Given the description of an element on the screen output the (x, y) to click on. 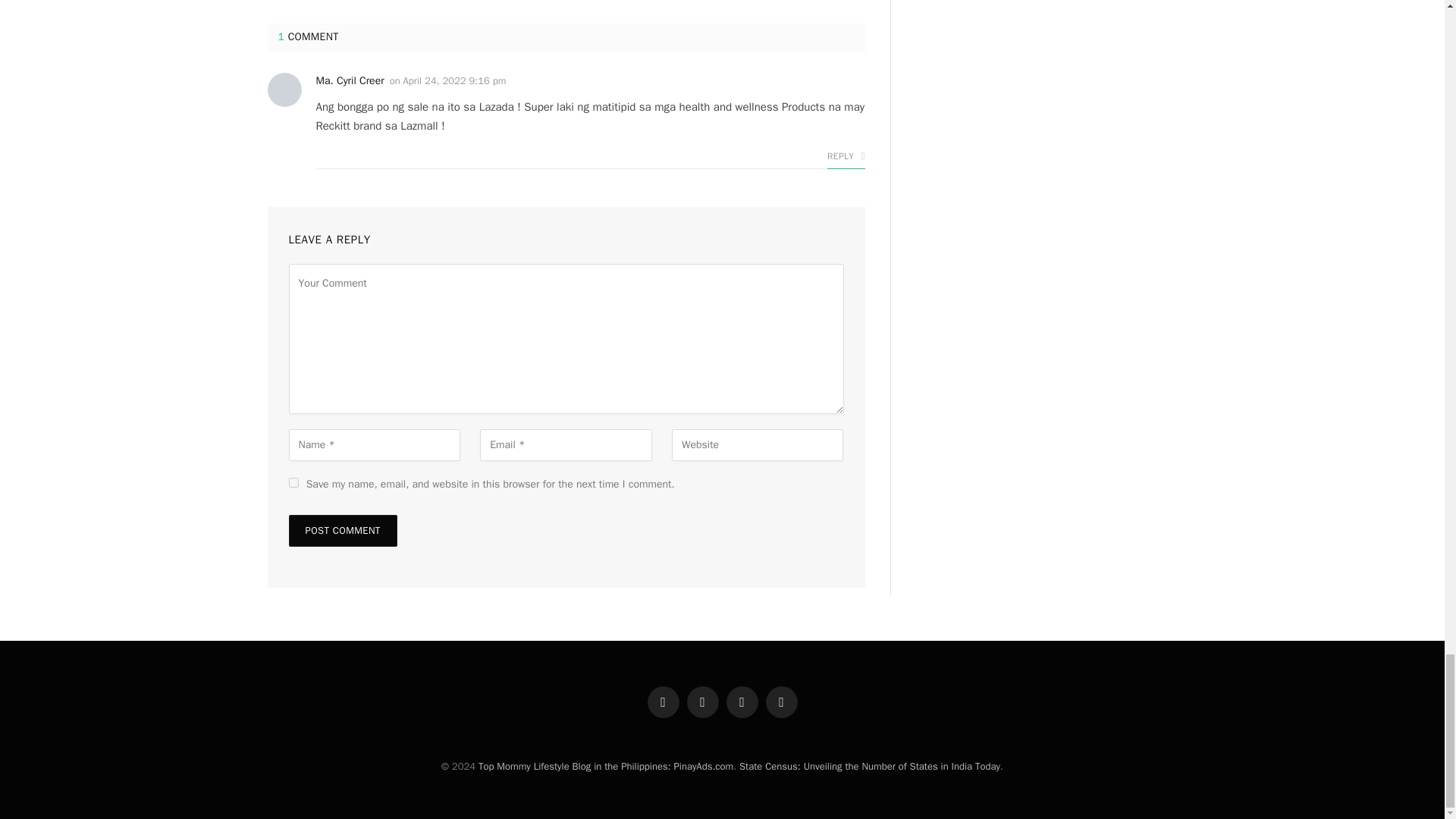
yes (293, 481)
Post Comment (342, 531)
